Given the description of an element on the screen output the (x, y) to click on. 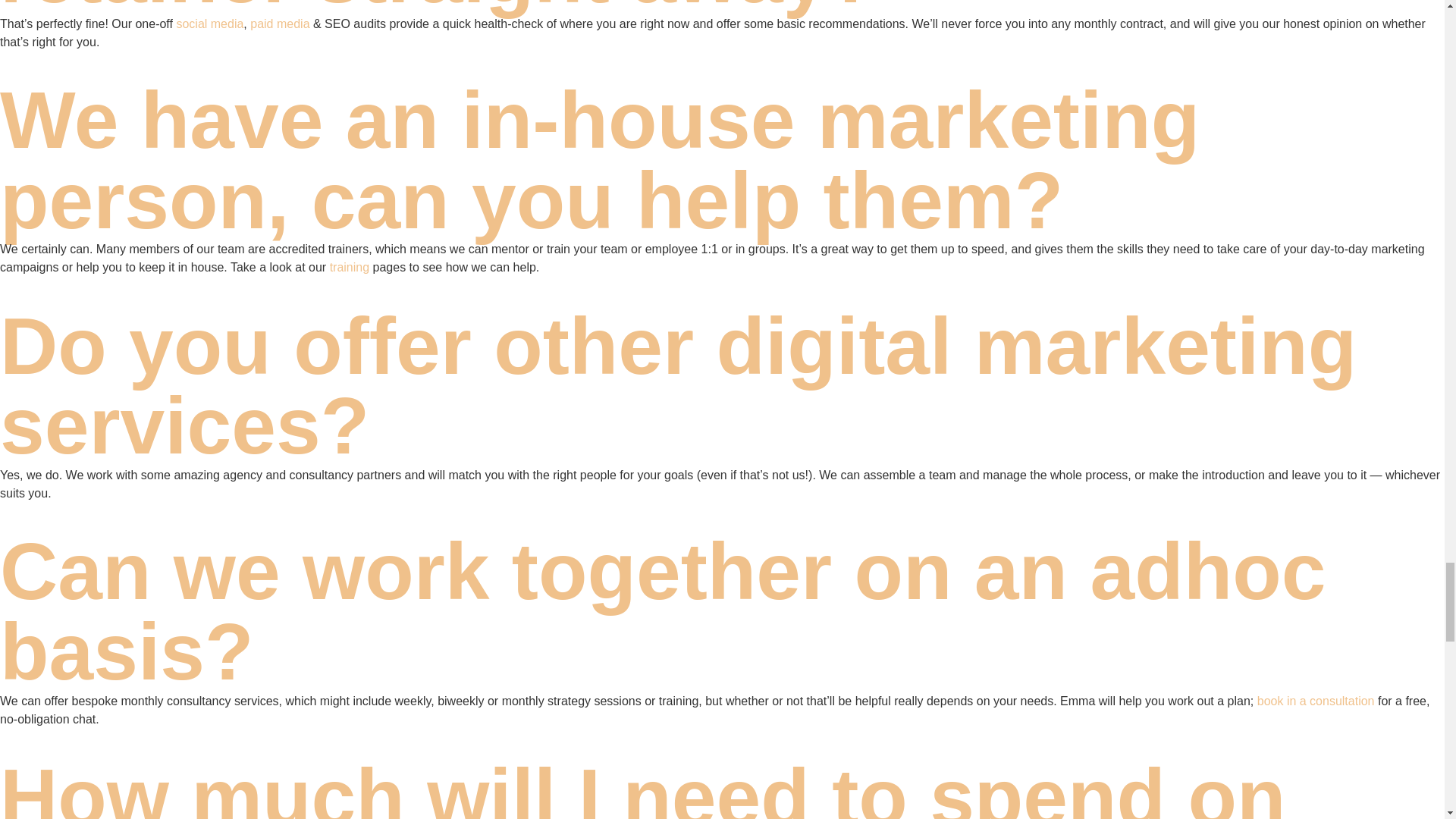
paid media (279, 23)
training (349, 267)
social media (209, 23)
book in a consultation (1315, 700)
